Given the description of an element on the screen output the (x, y) to click on. 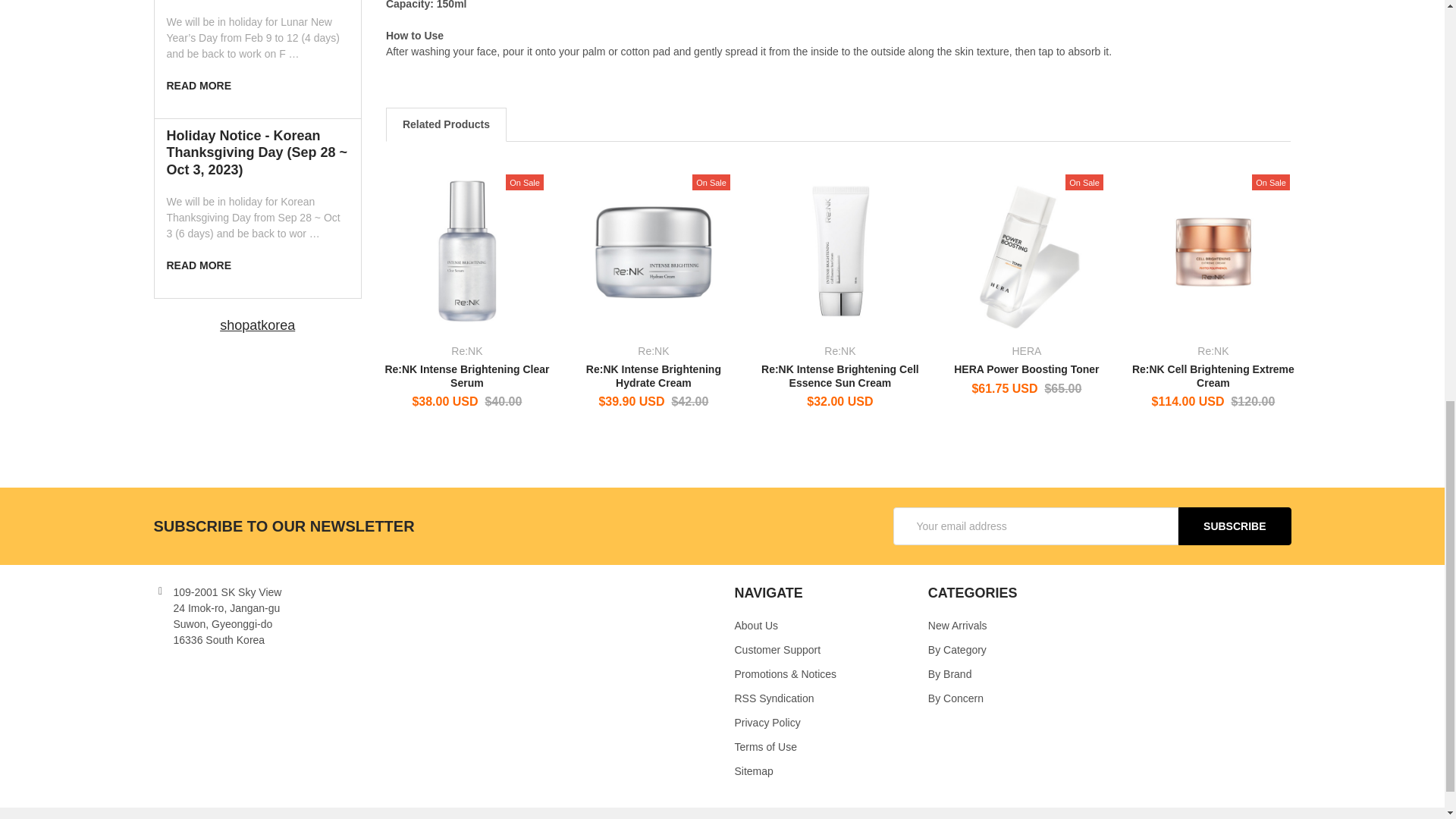
Subscribe (1233, 525)
Re:NK Intense Brightening Cell Essence Sun Cream (839, 250)
Re:NK Intense Brightening Clear Serum (466, 250)
Re:NK Intense Brightening Hydrate Cream (653, 250)
Re:NK Cell Brightening Extreme Cream (1213, 250)
